Given the description of an element on the screen output the (x, y) to click on. 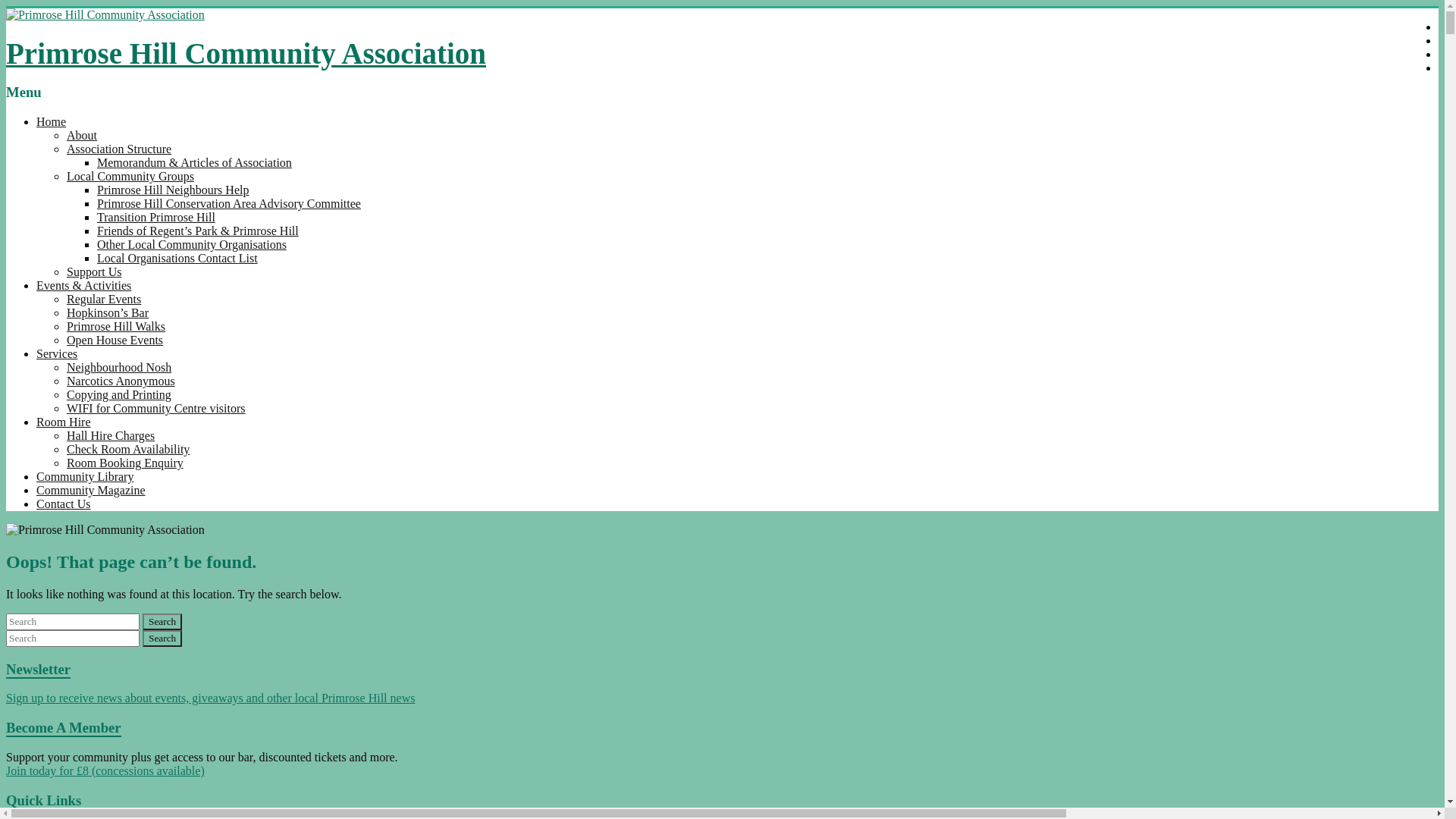
Support Us Element type: text (93, 271)
Room Booking Enquiry Element type: text (124, 462)
Primrose Hill Conservation Area Advisory Committee Element type: text (228, 203)
Hall Hire Charges Element type: text (110, 435)
Room Hire Element type: text (63, 421)
Community Magazine Element type: text (90, 489)
Services Element type: text (56, 353)
Search Element type: text (162, 638)
Primrose Hill Walks Element type: text (115, 326)
Association Structure Element type: text (118, 148)
Other Local Community Organisations Element type: text (191, 244)
Contact Us Element type: text (63, 503)
Local Community Groups Element type: text (130, 175)
Primrose Hill Community Association Element type: text (246, 53)
Neighbourhood Nosh Element type: text (118, 366)
Transition Primrose Hill Element type: text (156, 216)
Narcotics Anonymous Element type: text (120, 380)
Check Room Availability Element type: text (127, 448)
Search Element type: text (162, 621)
Home Element type: text (50, 121)
Local Organisations Contact List Element type: text (177, 257)
Primrose Hill Neighbours Help Element type: text (172, 189)
Community Library Element type: text (84, 476)
Regular Events Element type: text (103, 298)
Events & Activities Element type: text (83, 285)
WIFI for Community Centre visitors Element type: text (155, 407)
Open House Events Element type: text (114, 339)
Memorandum & Articles of Association Element type: text (194, 162)
About Element type: text (81, 134)
Copying and Printing Element type: text (118, 394)
